Given the description of an element on the screen output the (x, y) to click on. 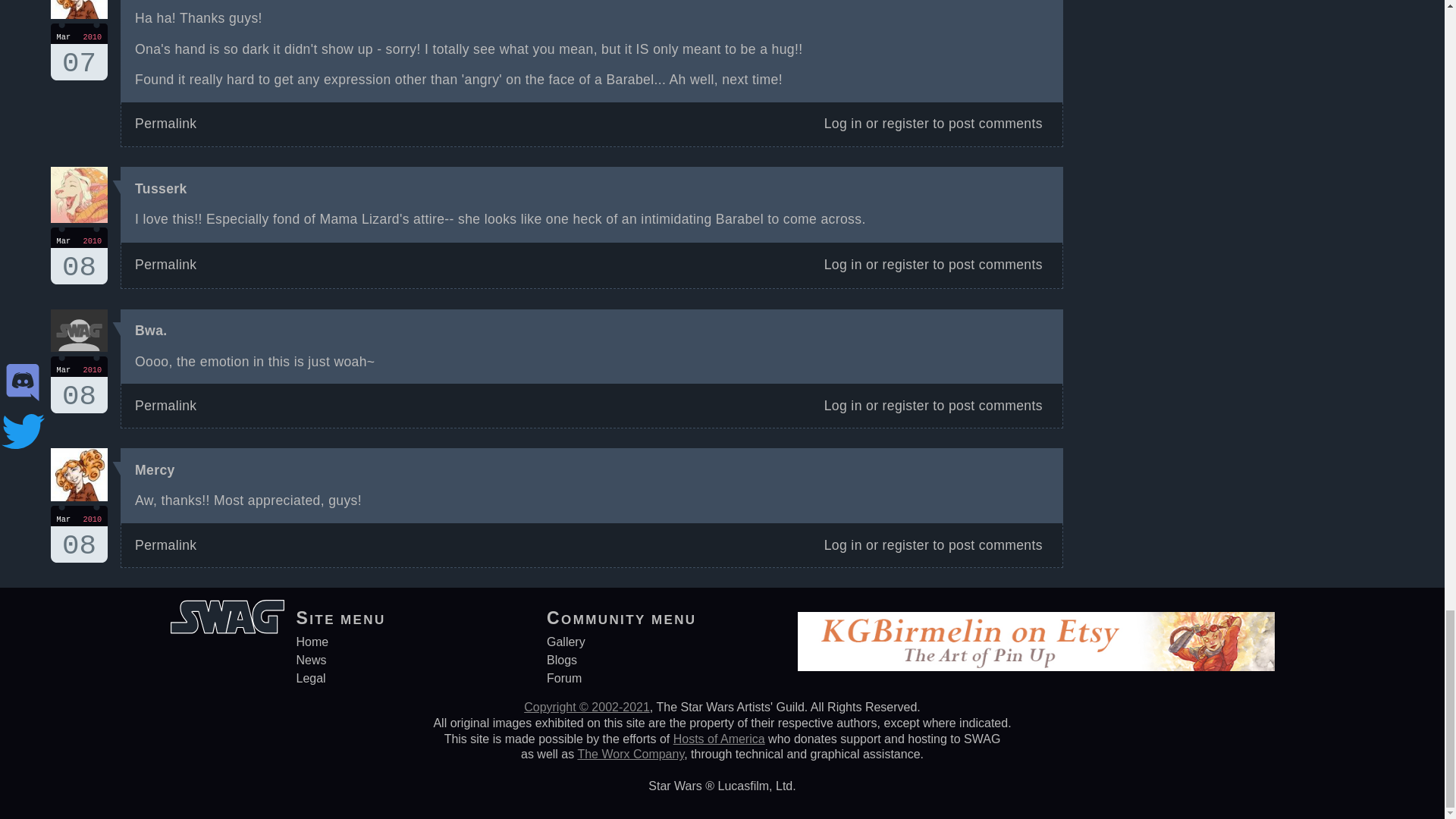
View user profile. (151, 330)
View user profile. (78, 51)
View user profile. (78, 255)
